Given the description of an element on the screen output the (x, y) to click on. 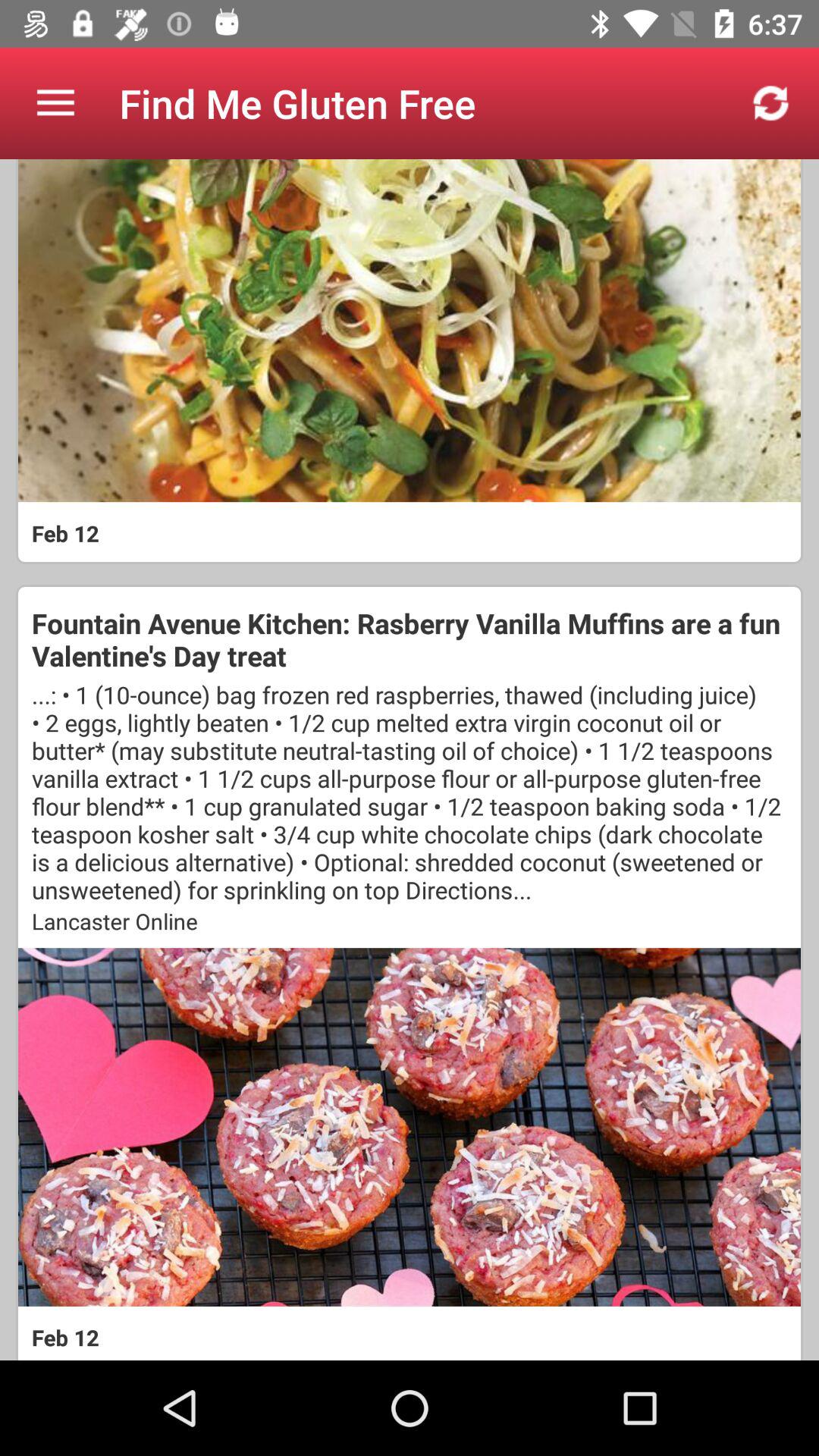
choose item next to the find me gluten app (771, 103)
